Given the description of an element on the screen output the (x, y) to click on. 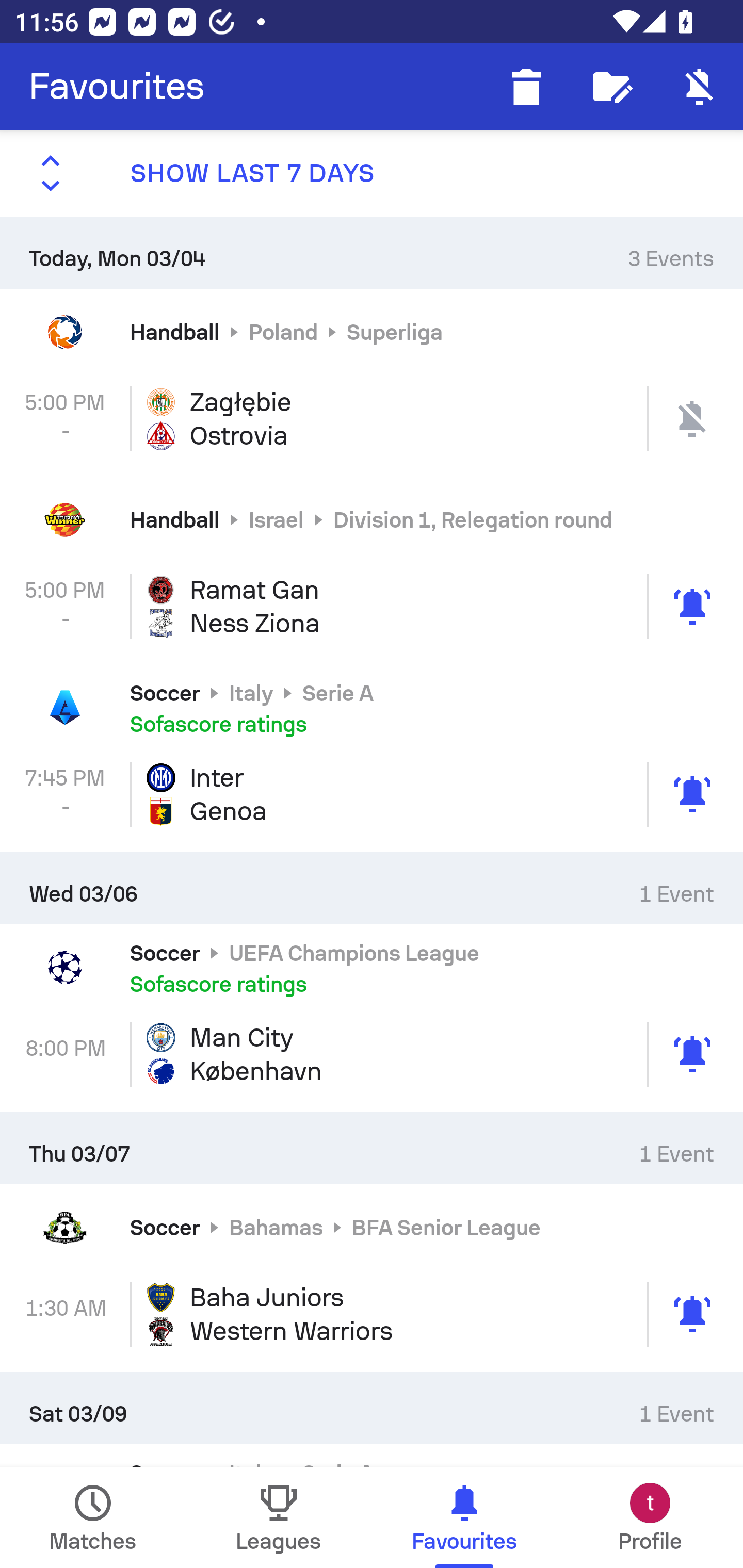
Favourites (116, 86)
Delete finished (525, 86)
Follow editor (612, 86)
Enable notifications (699, 86)
SHOW LAST 7 DAYS (371, 173)
Today, Mon 03/04 3 Events (371, 252)
Handball Poland Superliga (371, 331)
5:00 PM - Zagłębie Ostrovia (371, 418)
Handball Israel Division 1, Relegation round (371, 519)
5:00 PM - Ramat Gan Ness Ziona (371, 605)
Soccer Italy Serie A Sofascore ratings (371, 707)
7:45 PM - Inter Genoa (371, 794)
Wed 03/06 1 Event (371, 887)
Soccer UEFA Champions League Sofascore ratings (371, 967)
8:00 PM Man City København (371, 1054)
Thu 03/07 1 Event (371, 1147)
Soccer Bahamas BFA Senior League (371, 1227)
1:30 AM Baha Juniors Western Warriors (371, 1314)
Sat 03/09 1 Event (371, 1408)
Matches (92, 1517)
Leagues (278, 1517)
Profile (650, 1517)
